Given the description of an element on the screen output the (x, y) to click on. 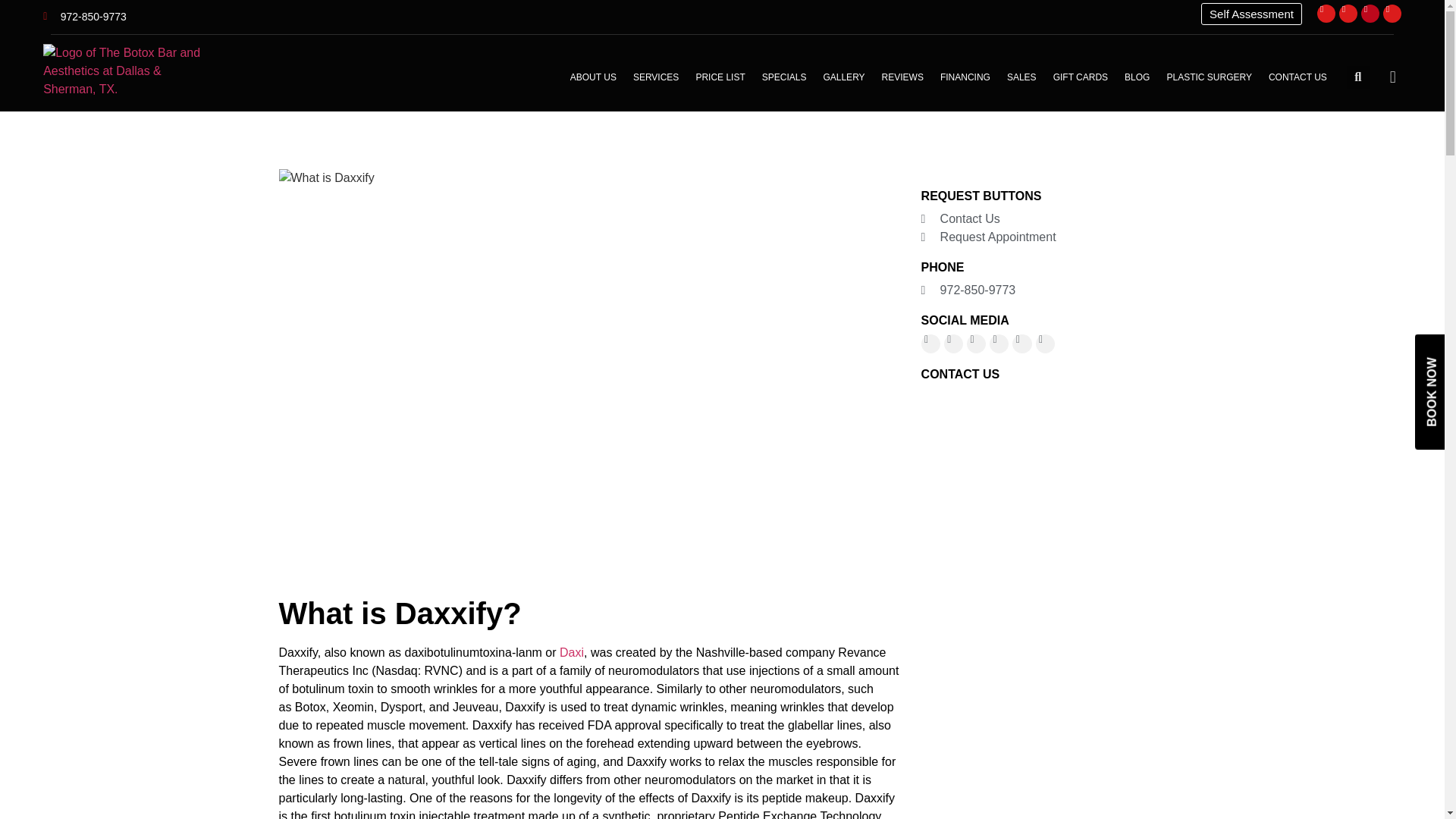
972-850-9773 (84, 17)
SERVICES (655, 77)
ABOUT US (593, 77)
SPECIALS (784, 77)
PRICE LIST (719, 77)
REVIEWS (902, 77)
GALLERY (842, 77)
Self Assessment (1251, 14)
FINANCING (964, 77)
